Given the description of an element on the screen output the (x, y) to click on. 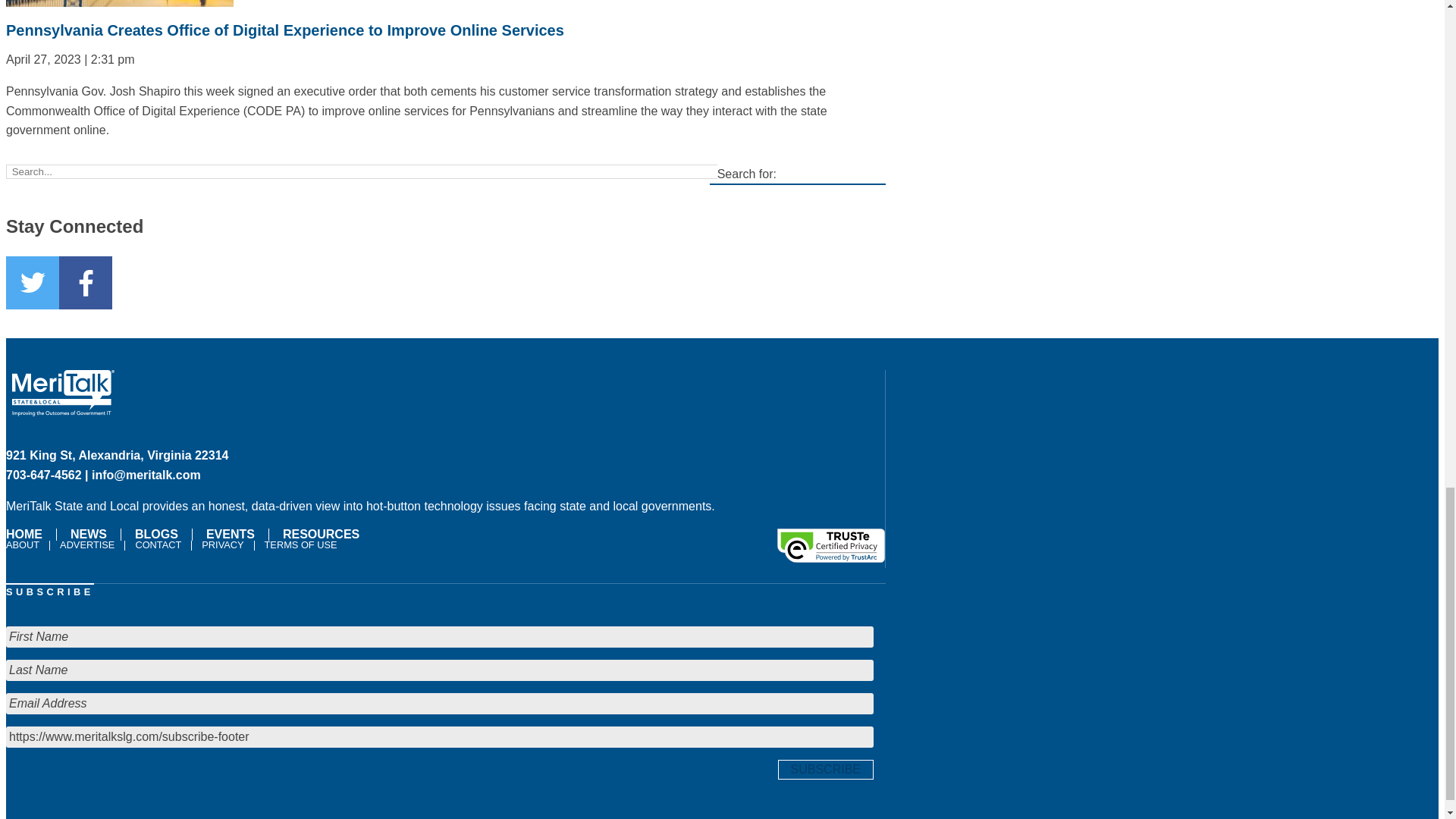
Subscribe (825, 769)
ABOUT (24, 544)
BLOGS (157, 533)
TERMS OF USE (300, 544)
EVENTS (230, 533)
ADVERTISE (86, 544)
NEWS (88, 533)
RESOURCES (320, 533)
CONTACT (157, 544)
PRIVACY (222, 544)
HOME (27, 533)
